Given the description of an element on the screen output the (x, y) to click on. 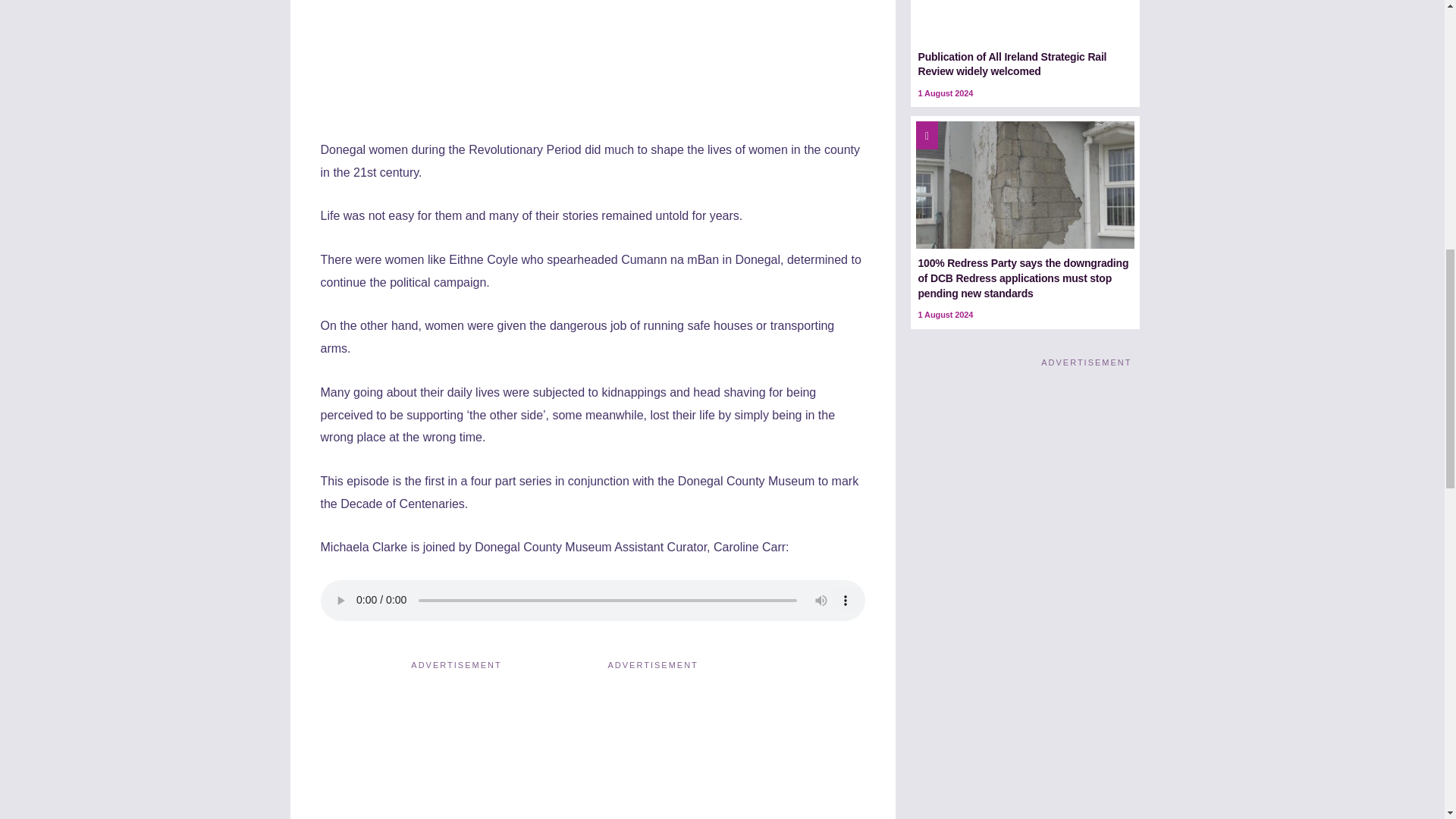
Mica House 2 (1024, 184)
train track (1024, 21)
